Given the description of an element on the screen output the (x, y) to click on. 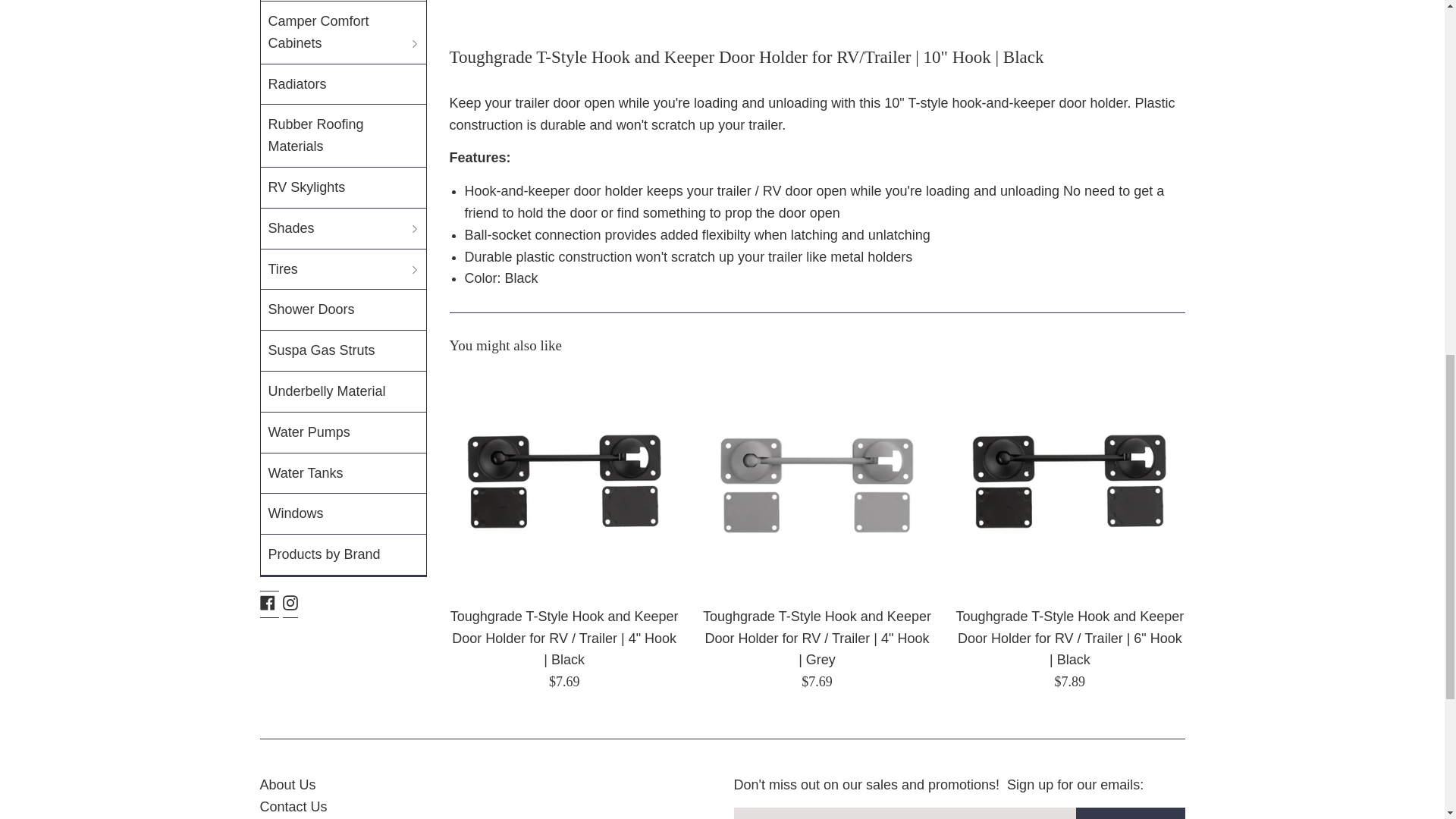
factoryrvsurplus.com on Facebook (267, 601)
factoryrvsurplus.com on Instagram (290, 601)
